Given the description of an element on the screen output the (x, y) to click on. 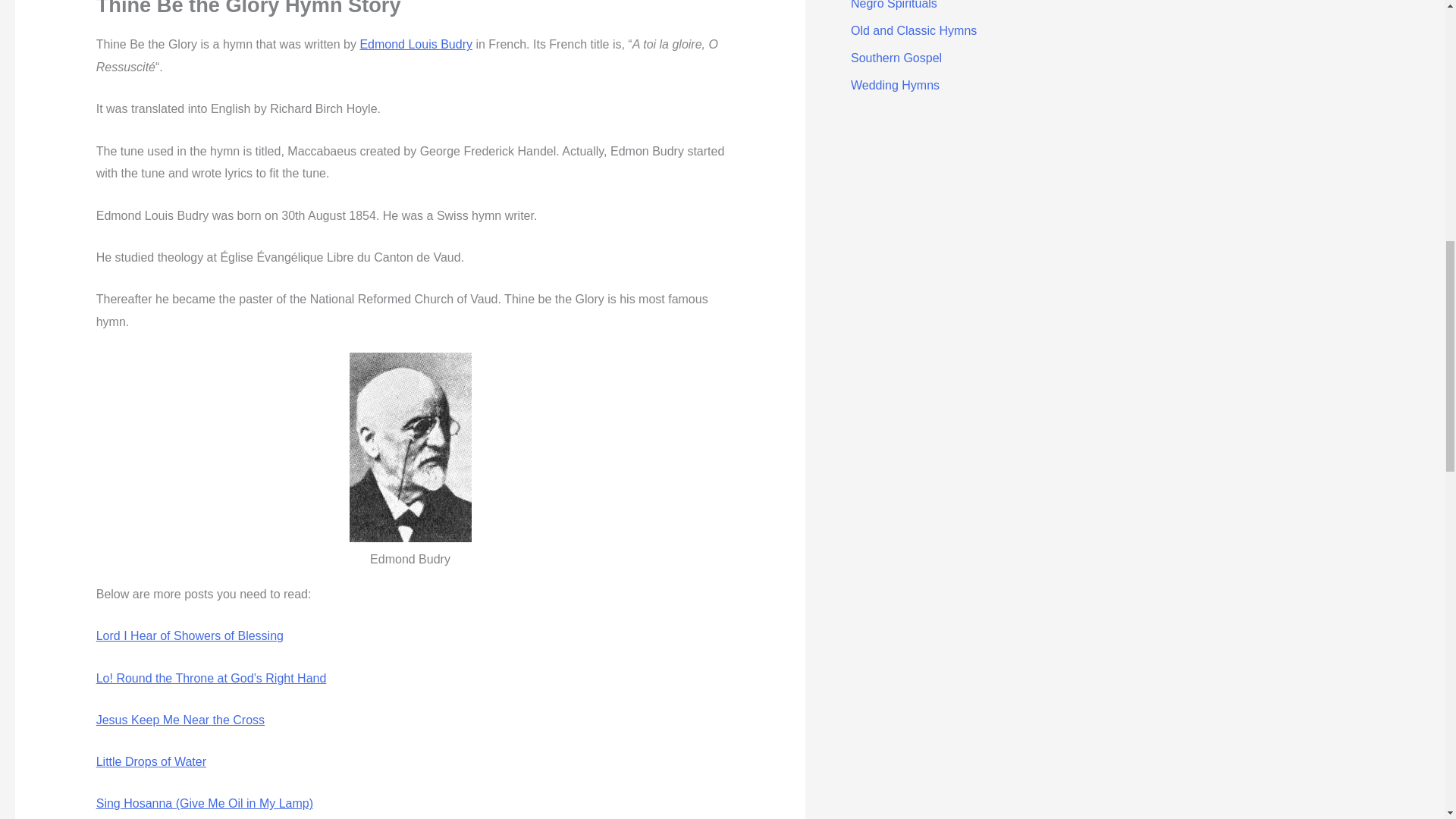
Jesus Keep Me Near the Cross (180, 719)
Little Drops of Water (151, 761)
Edmond Louis Budry (415, 43)
Lord I Hear of Showers of Blessing (189, 635)
